Given the description of an element on the screen output the (x, y) to click on. 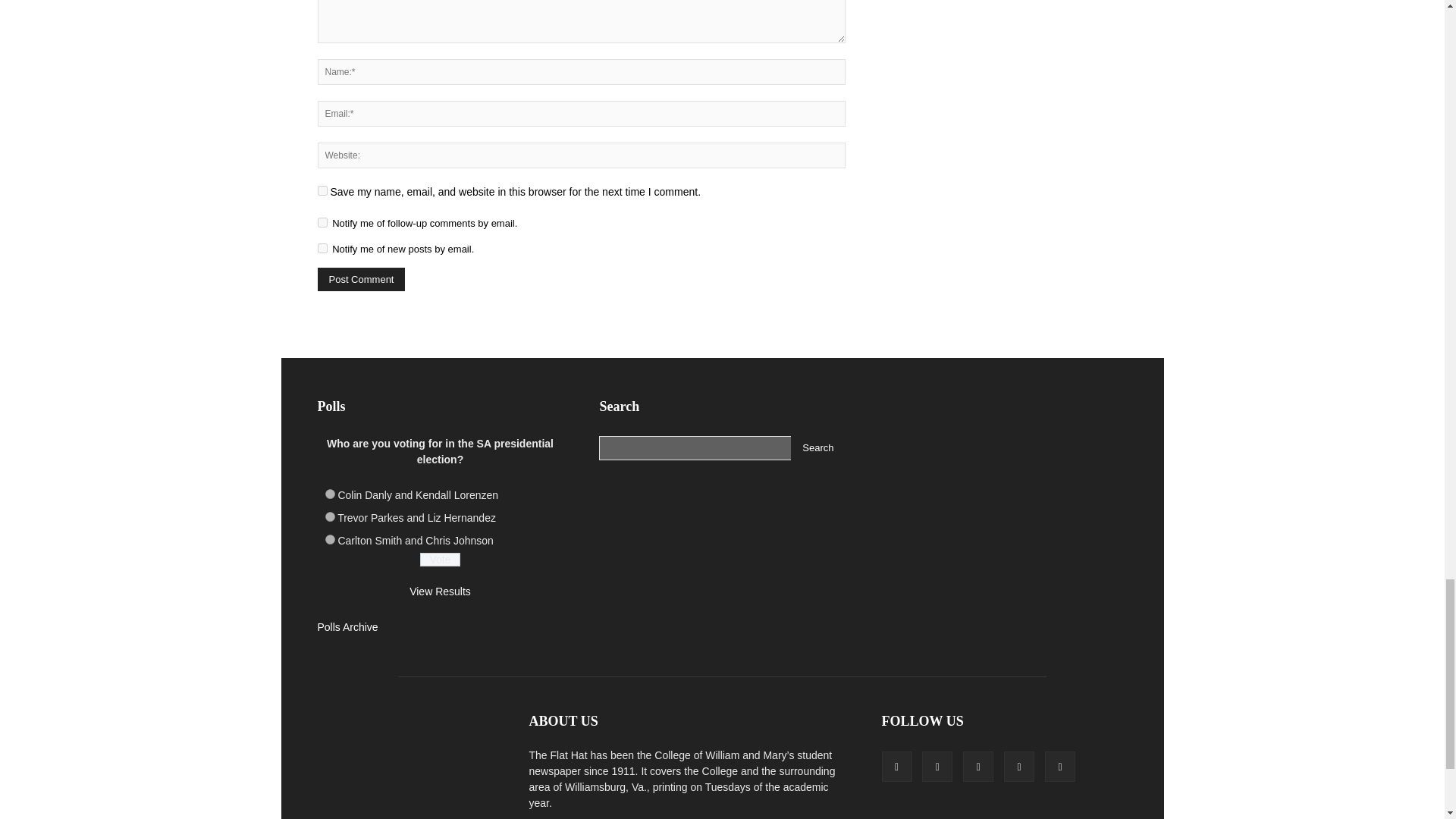
subscribe (321, 222)
subscribe (321, 248)
104 (329, 493)
105 (329, 516)
106 (329, 539)
yes (321, 190)
   Vote    (440, 559)
Search (817, 447)
Post Comment (360, 279)
